Given the description of an element on the screen output the (x, y) to click on. 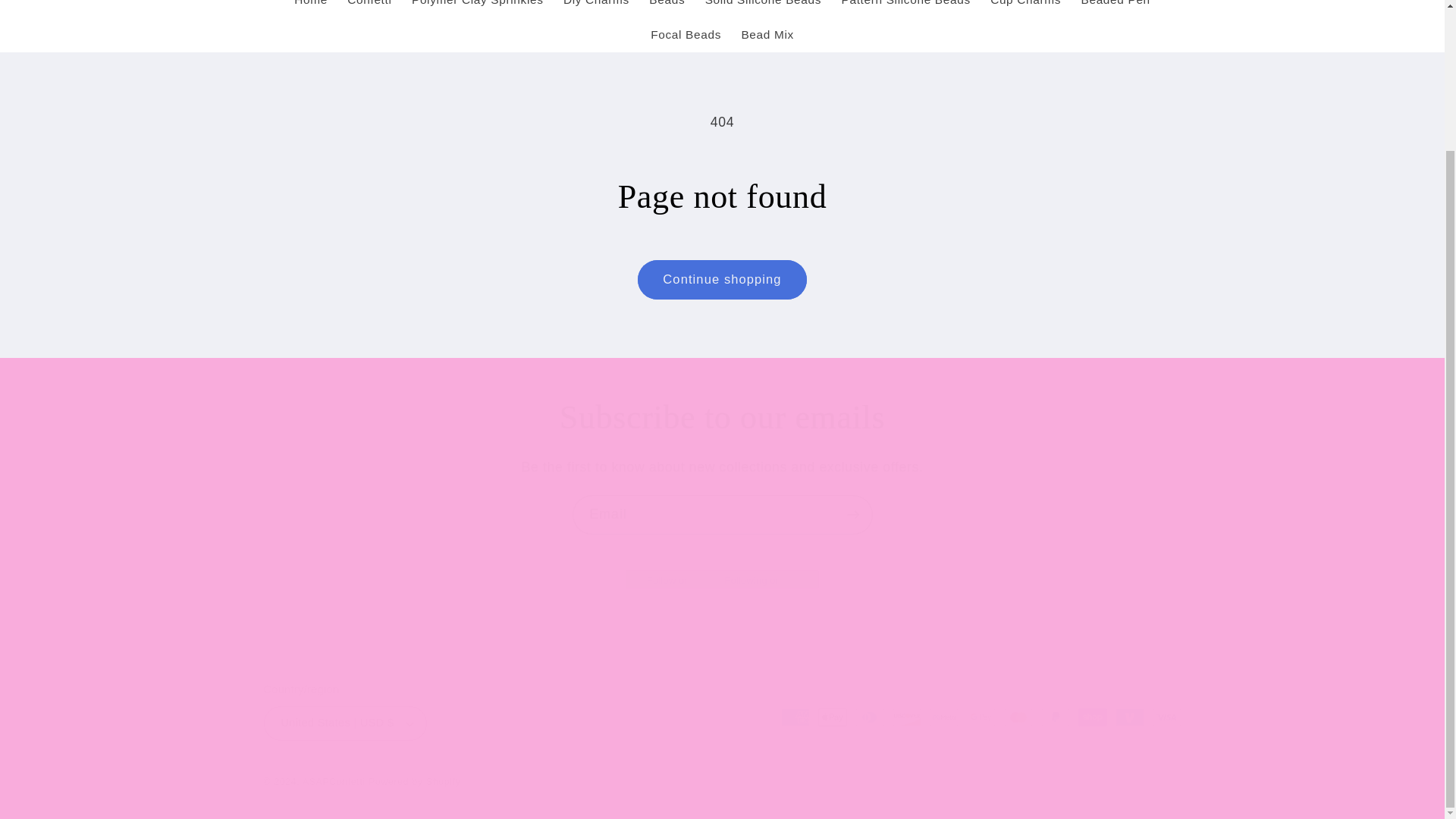
Subscribe to our emails (722, 416)
Home (310, 8)
Beaded Pen (1115, 8)
Solid Silicone Beads (762, 8)
Bead Mix (766, 34)
Email (722, 514)
Confetti (369, 8)
Focal Beads (685, 34)
Cup Charms (1024, 8)
